Given the description of an element on the screen output the (x, y) to click on. 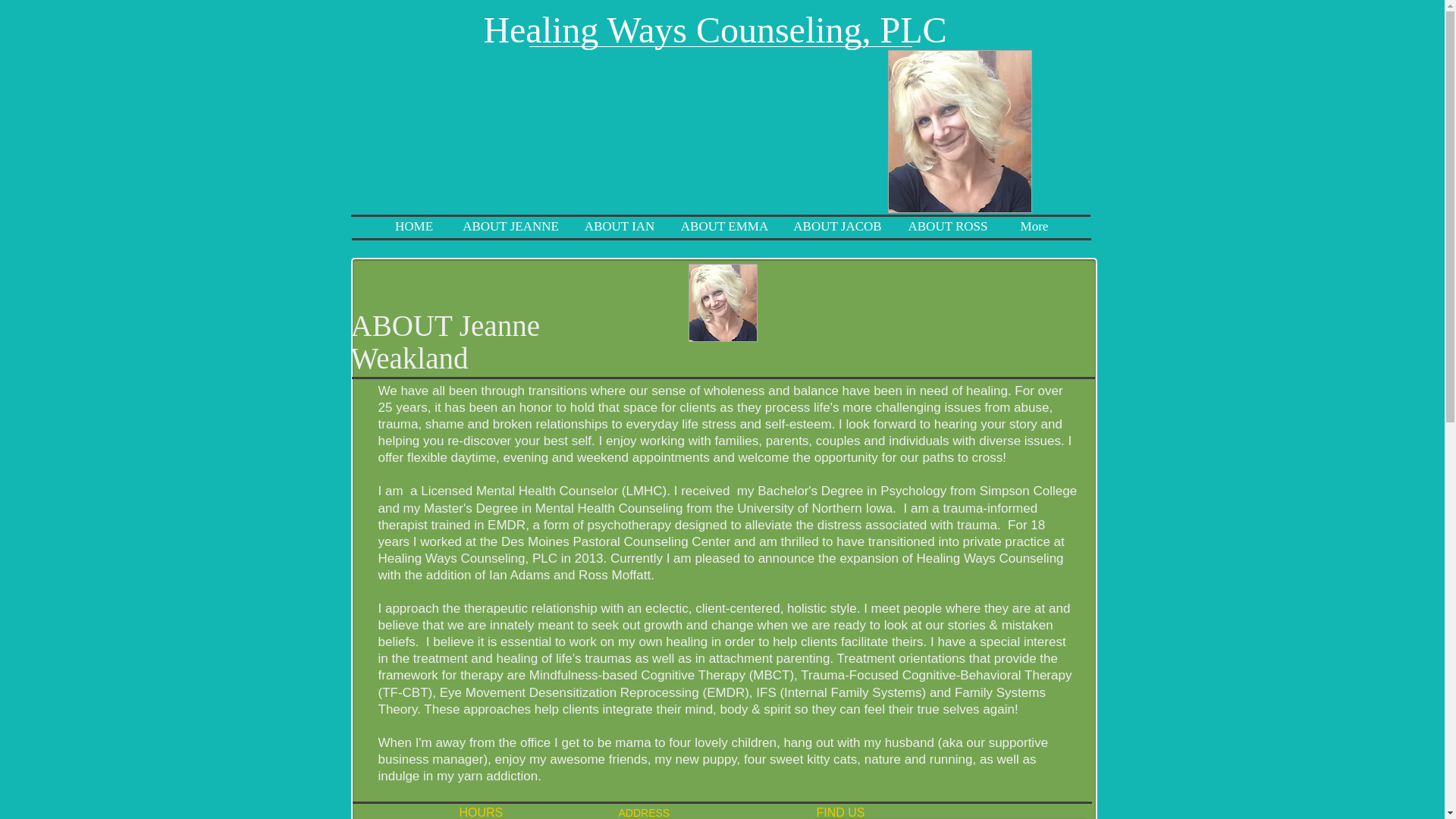
ABOUT JACOB (837, 226)
ABOUT JEANNE (509, 226)
HOME (414, 226)
ABOUT IAN (619, 226)
ABOUT ROSS (948, 226)
ABOUT EMMA (724, 226)
